Given the description of an element on the screen output the (x, y) to click on. 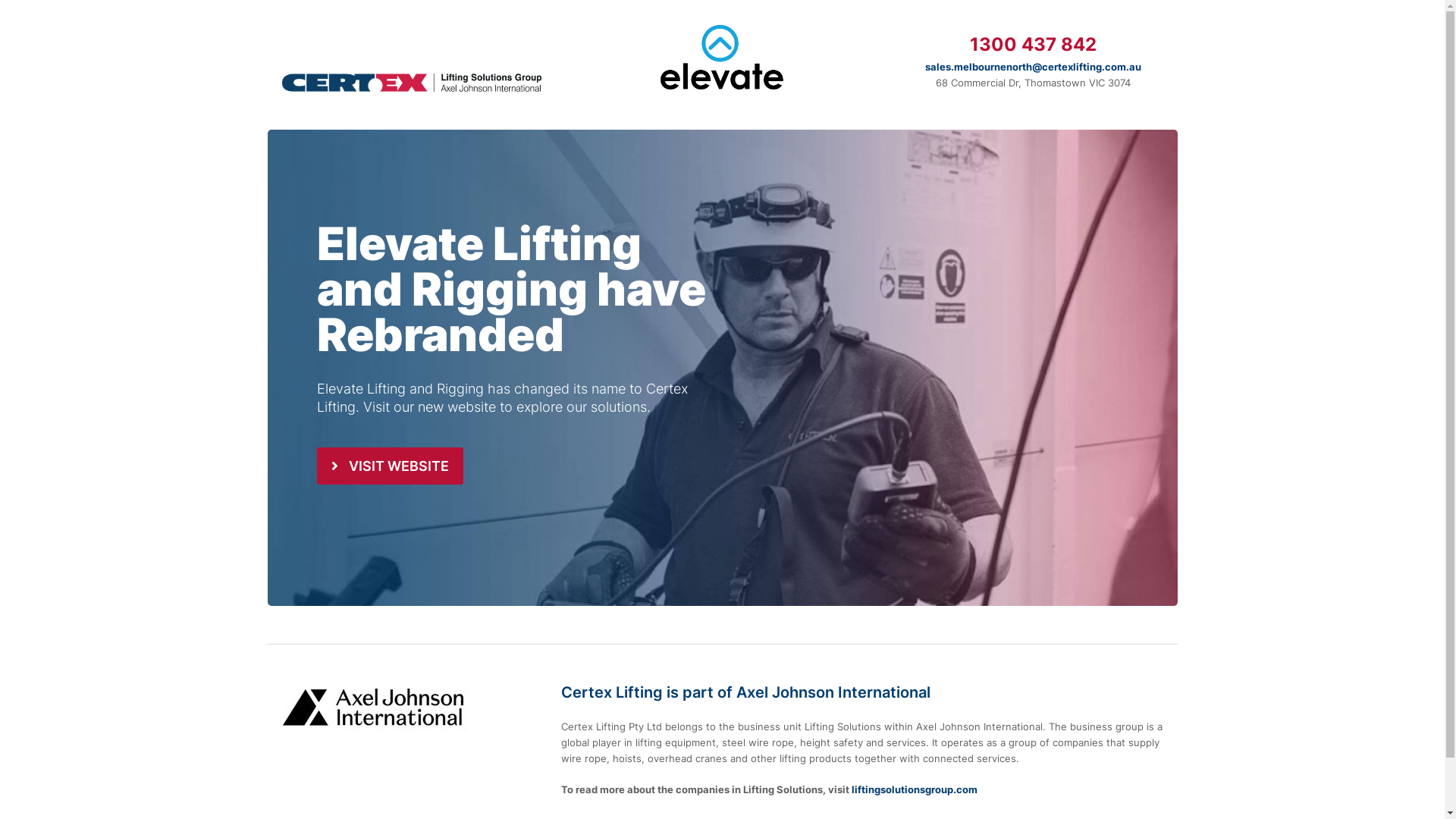
sales.melbournenorth@certexlifting.com.au Element type: text (1033, 66)
VISIT WEBSITE Element type: text (390, 465)
liftingsolutionsgroup.com Element type: text (913, 789)
